Given the description of an element on the screen output the (x, y) to click on. 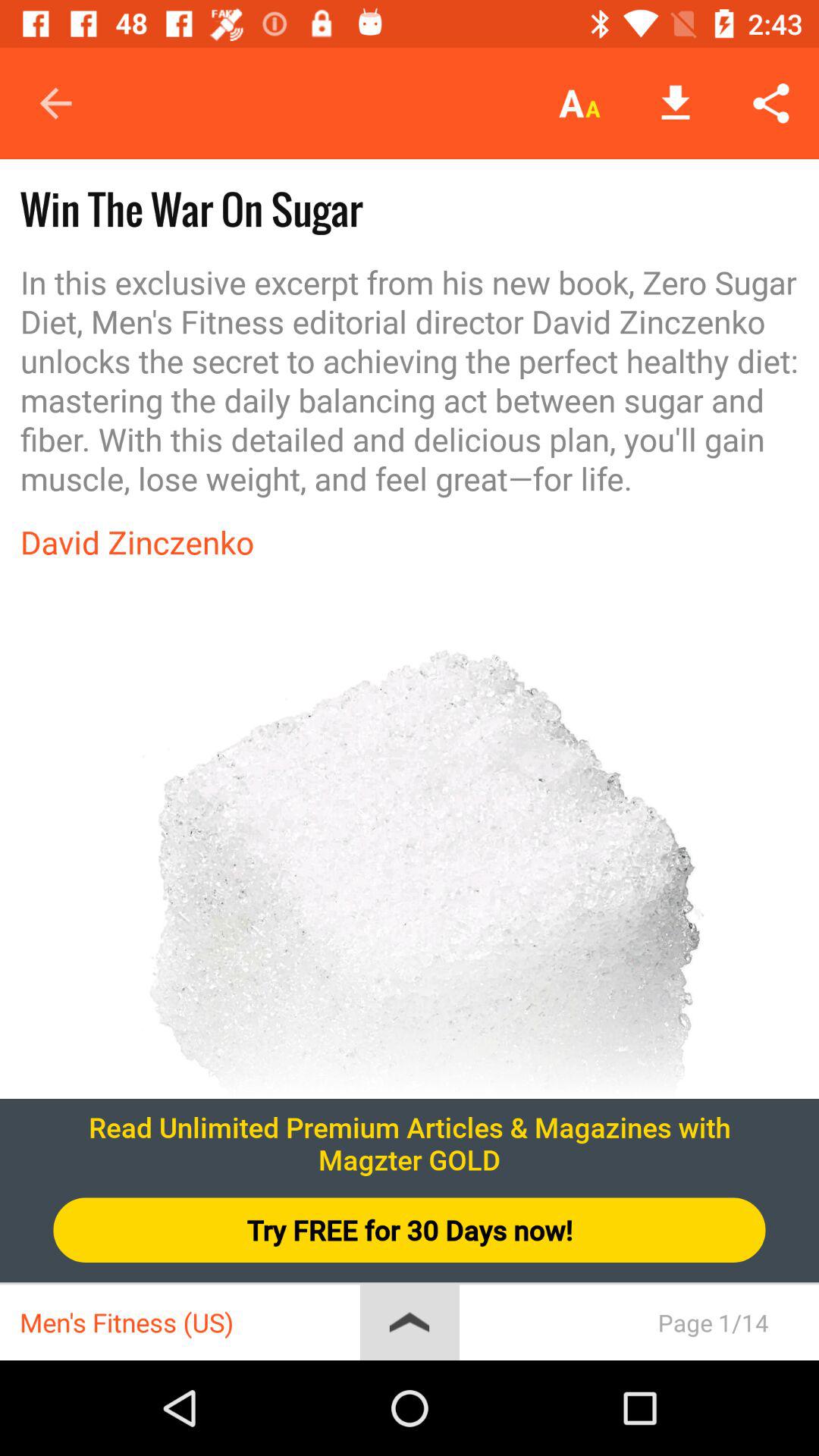
tap the icon below the david zinczenko (409, 938)
